Given the description of an element on the screen output the (x, y) to click on. 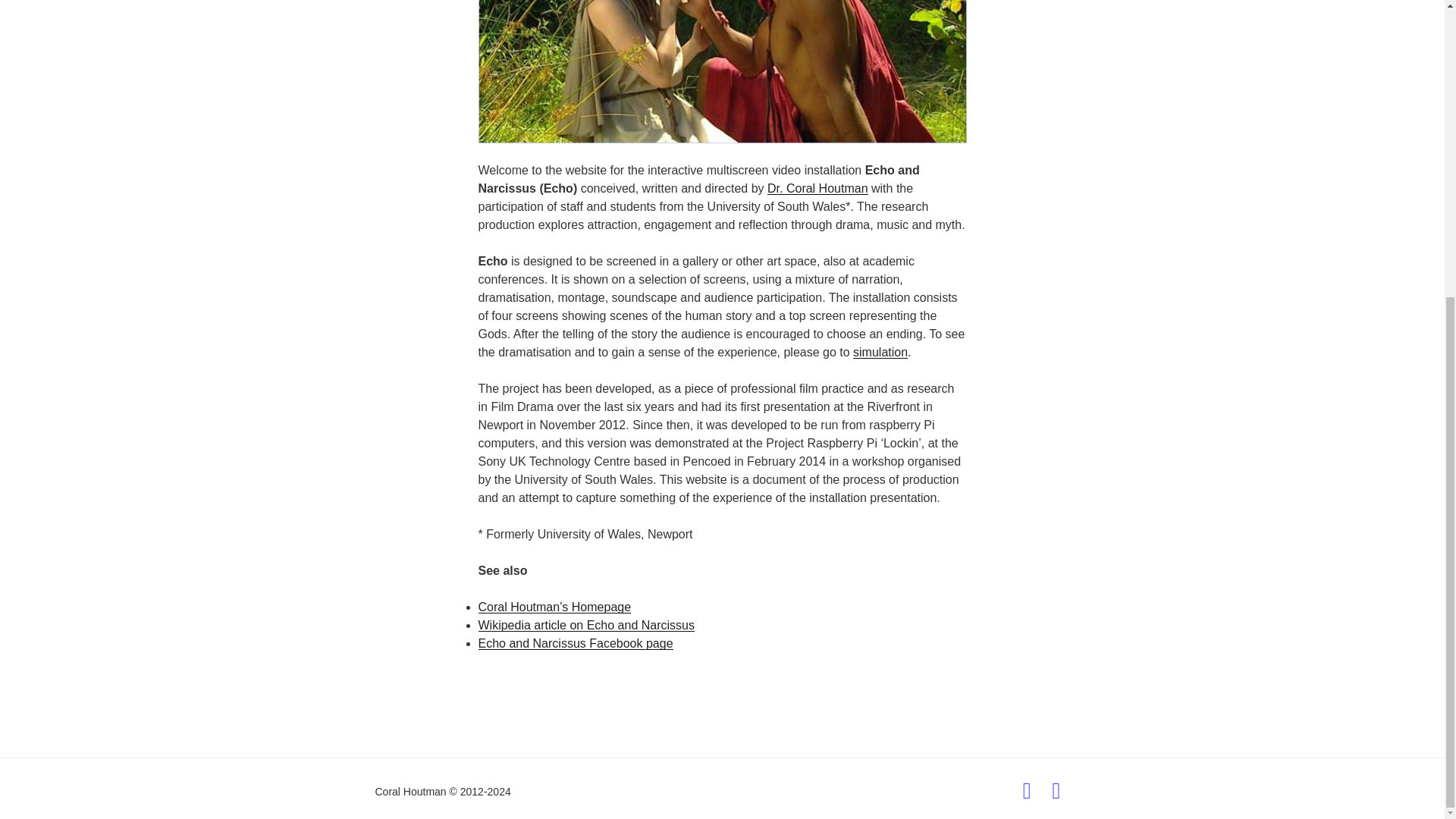
Dr. Coral Houtman (817, 187)
Wikipedia article on Echo and Narcissus (585, 625)
Echo and Narcissus Facebook page (574, 643)
simulation (880, 351)
